Given the description of an element on the screen output the (x, y) to click on. 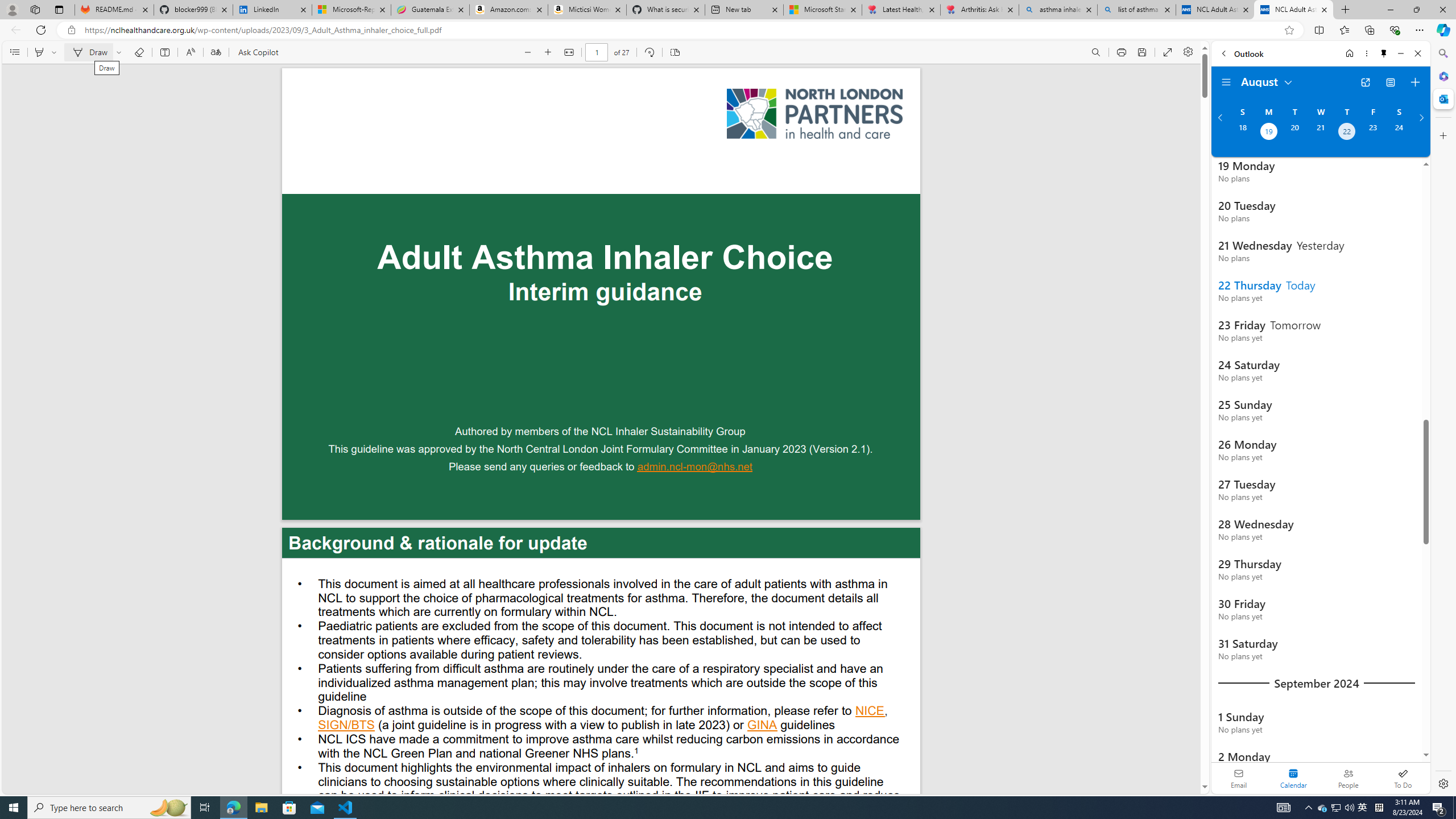
asthma inhaler - Search (1057, 9)
Page number (596, 52)
Add text (164, 52)
Contents (14, 52)
Print (Ctrl+P) (1121, 52)
August (1267, 80)
